Given the description of an element on the screen output the (x, y) to click on. 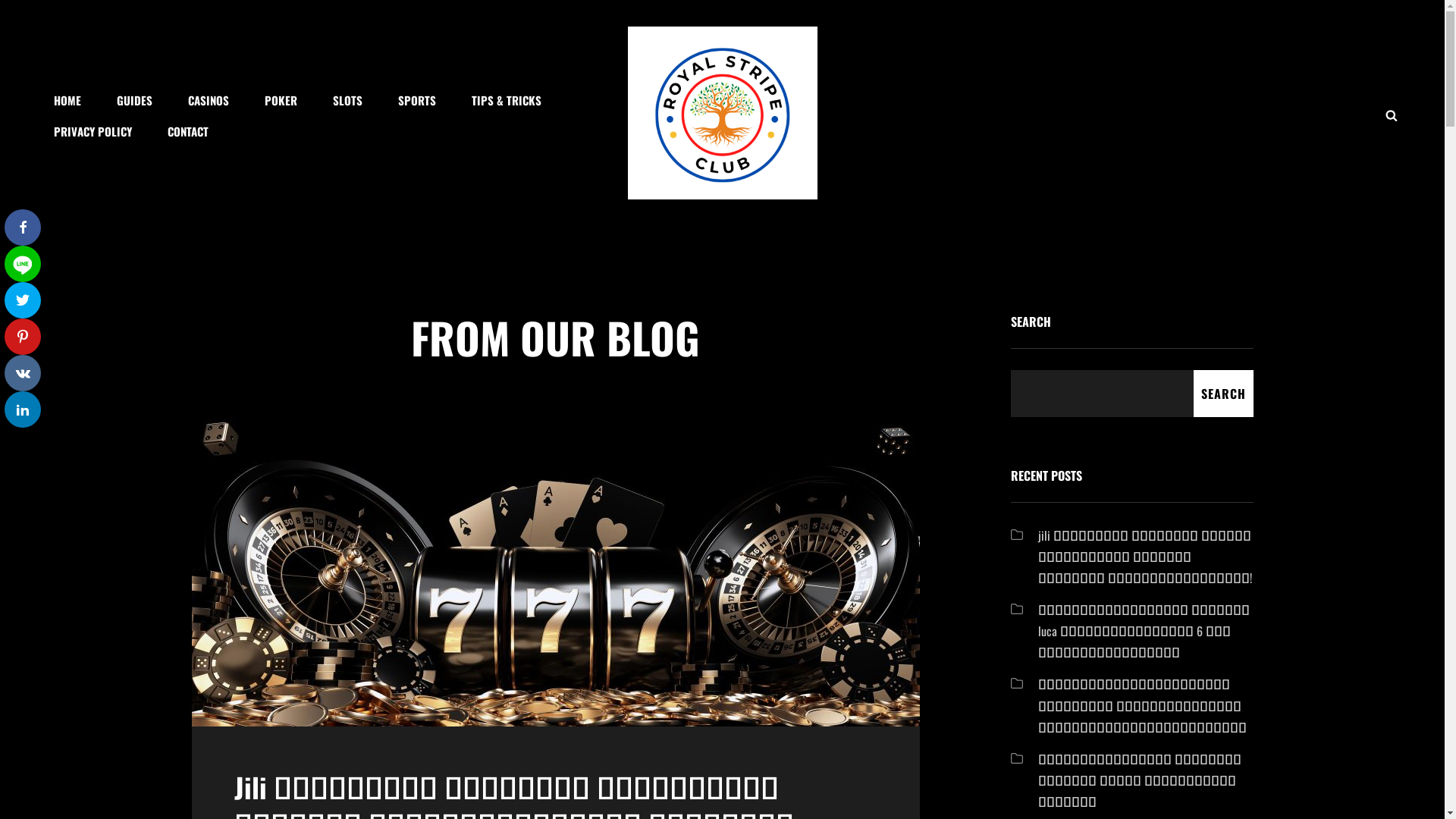
CASINOS Element type: text (208, 100)
SEARCH Element type: text (1391, 115)
GUIDES Element type: text (134, 100)
ROYAL STRIPE CLUB Element type: text (815, 218)
SPORTS Element type: text (416, 100)
CONTACT Element type: text (187, 130)
TIPS & TRICKS Element type: text (506, 100)
SLOTS Element type: text (347, 100)
SEARCH Element type: text (1223, 393)
POKER Element type: text (280, 100)
PRIVACY POLICY Element type: text (92, 130)
HOME Element type: text (67, 100)
